Given the description of an element on the screen output the (x, y) to click on. 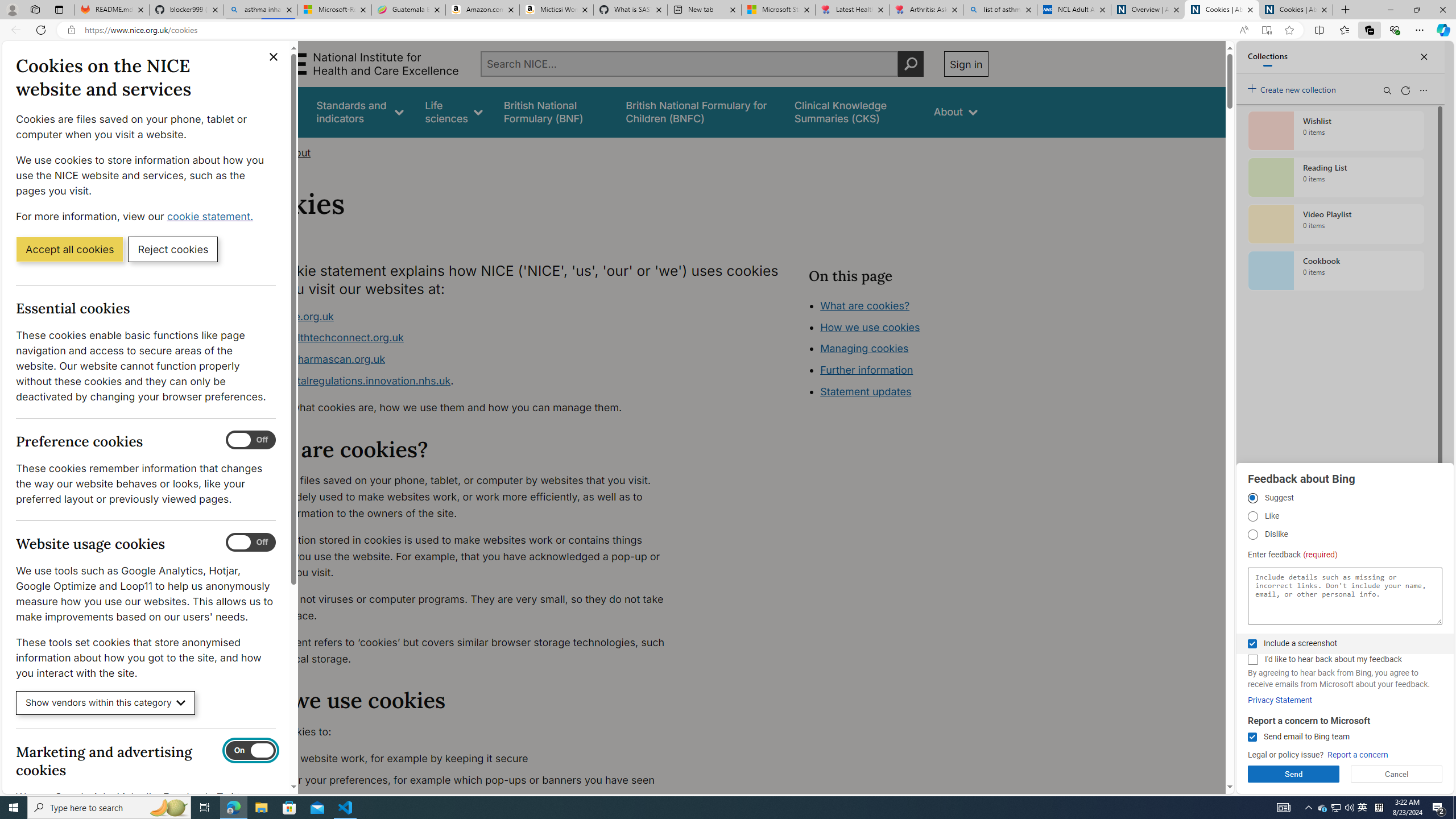
Home (252, 152)
Website usage cookies (250, 542)
Like (1252, 516)
Show vendors within this category (105, 703)
Arthritis: Ask Health Professionals (925, 9)
Report a concern (1358, 755)
